Given the description of an element on the screen output the (x, y) to click on. 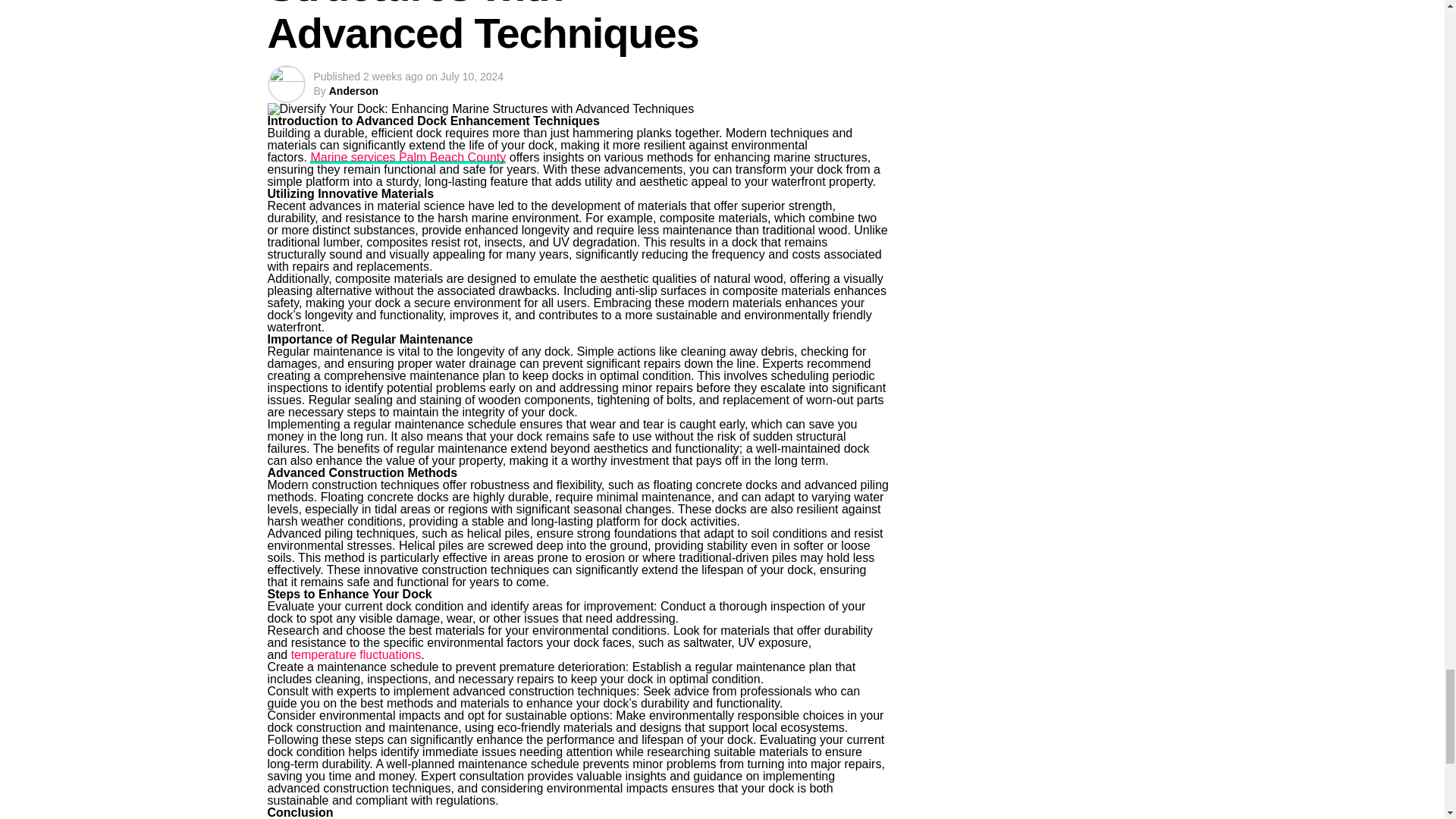
Posts by Anderson (353, 91)
